Given the description of an element on the screen output the (x, y) to click on. 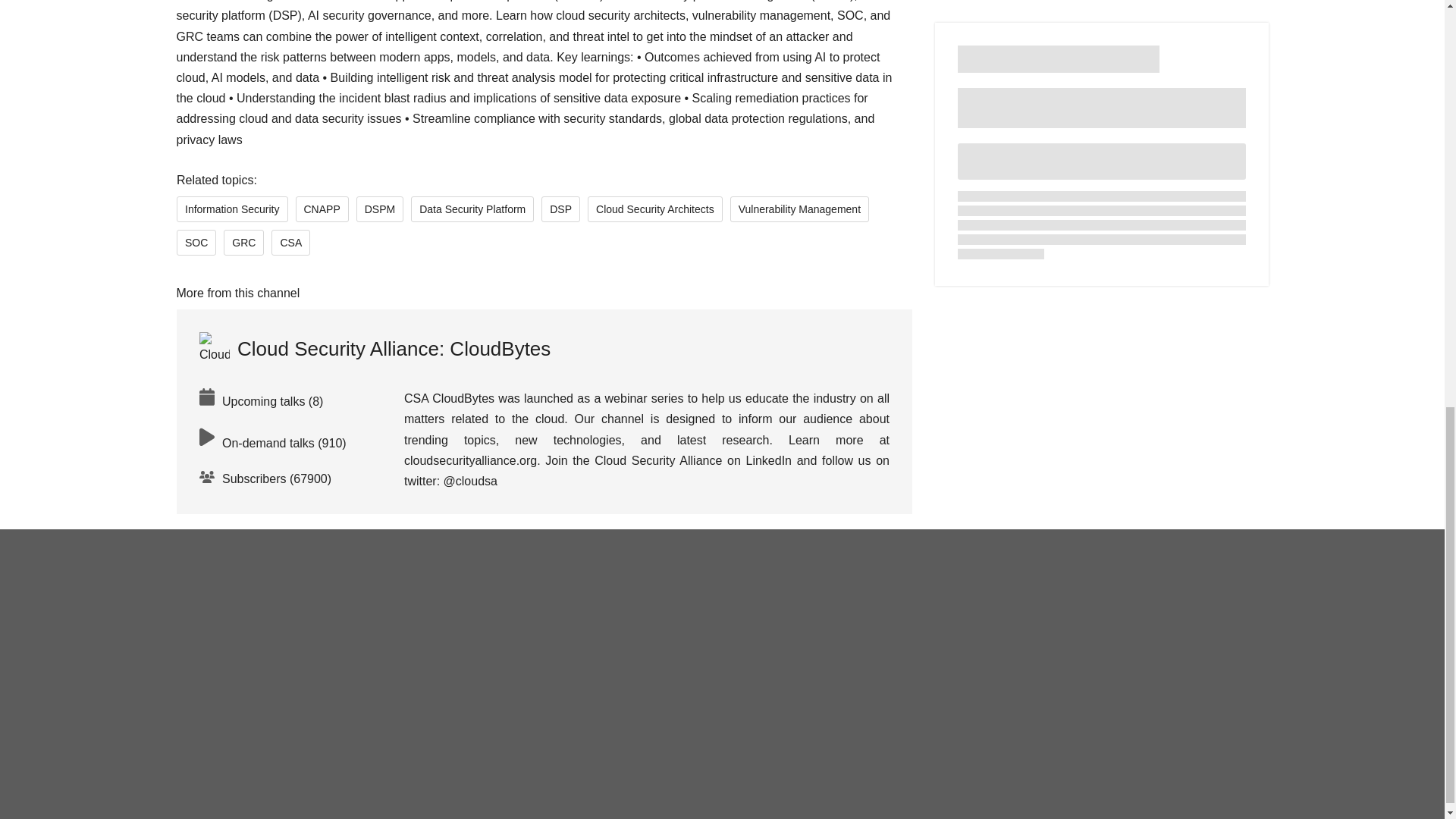
Visit Cloud Security Alliance: CloudBytes's channel (374, 348)
Cloud Security Alliance: CloudBytes (374, 348)
Data Security Platform (472, 208)
DSPM (379, 208)
Cloud Security Architects (655, 208)
SOC (195, 242)
Vulnerability Management (798, 208)
CNAPP (321, 208)
GRC (243, 242)
DSP (560, 208)
Information Security (231, 208)
CSA (290, 242)
